Given the description of an element on the screen output the (x, y) to click on. 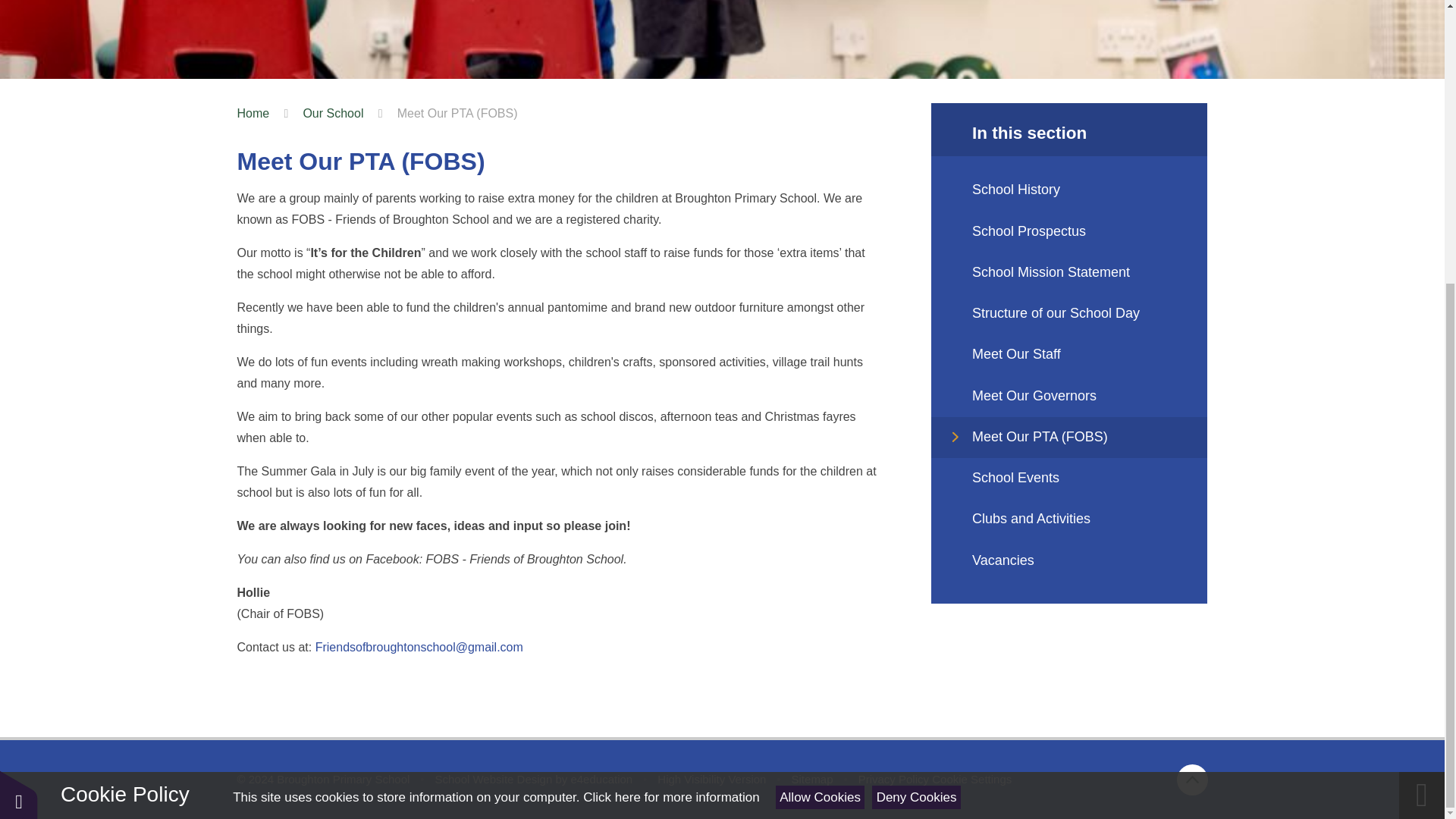
See cookie policy (670, 372)
Cookie Settings (971, 779)
Allow Cookies (820, 372)
Deny Cookies (915, 372)
